Given the description of an element on the screen output the (x, y) to click on. 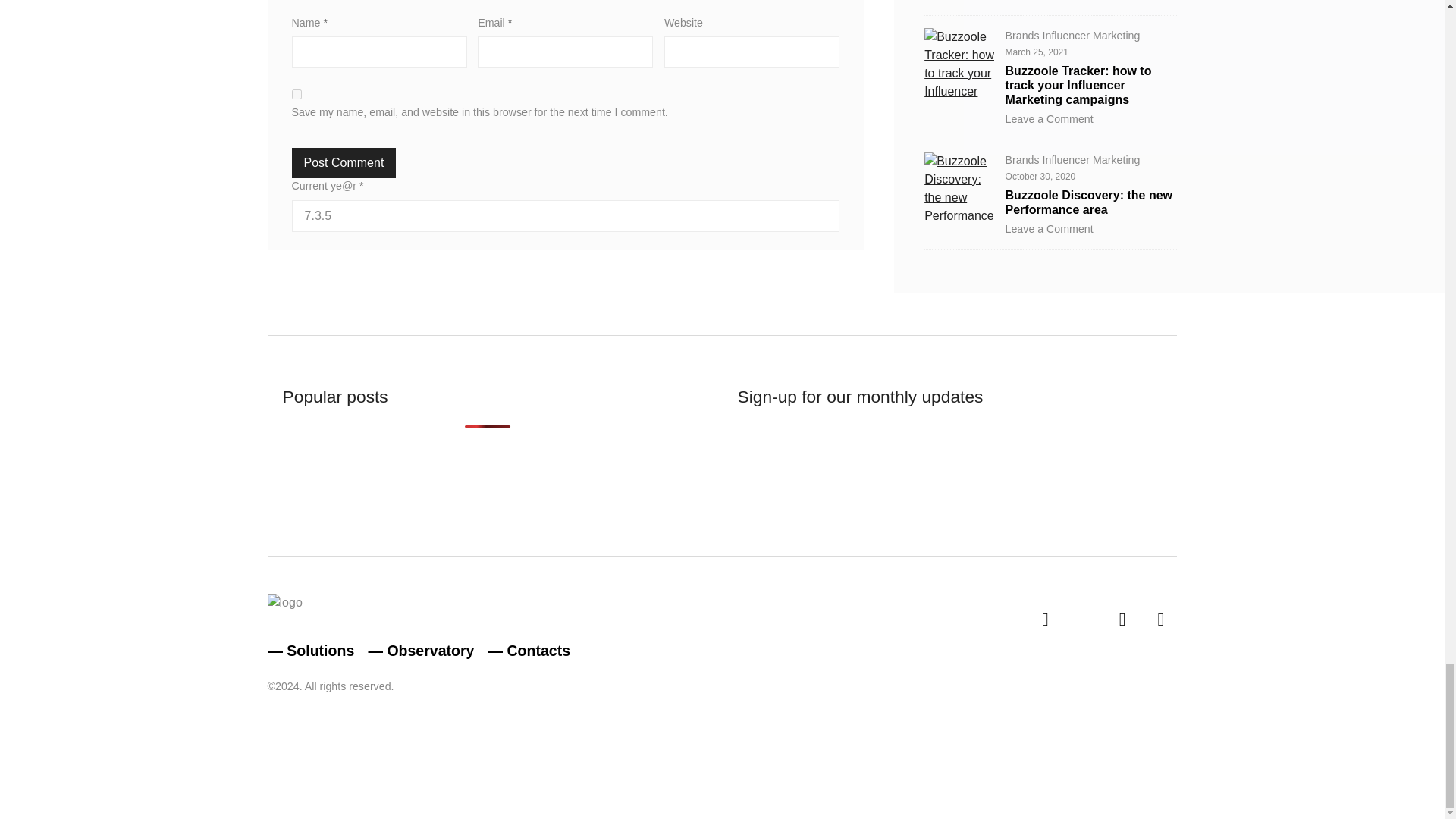
Post Comment (344, 163)
7.3.5 (566, 215)
yes (296, 94)
Post Comment (344, 163)
